Given the description of an element on the screen output the (x, y) to click on. 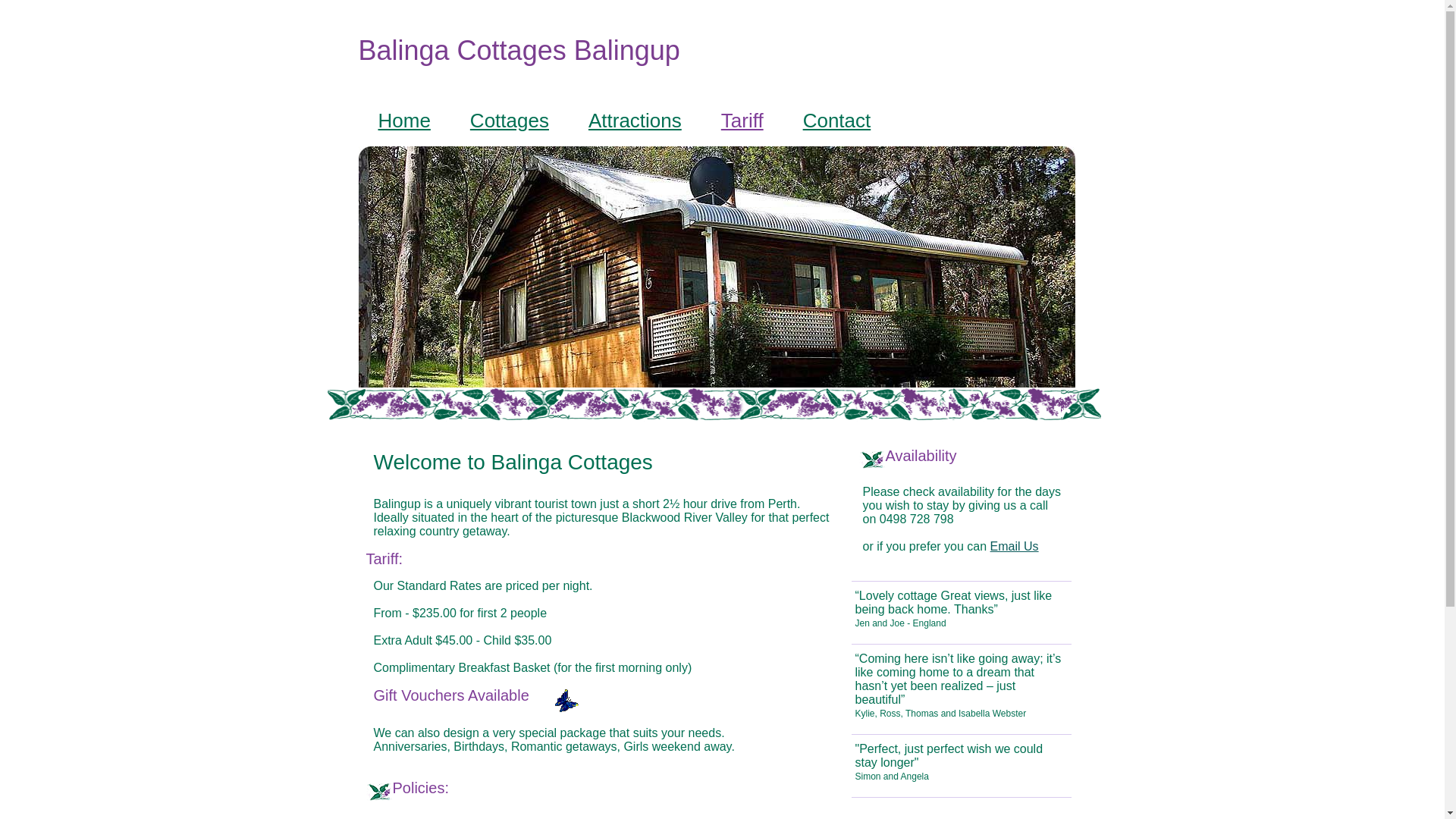
Attractions (635, 122)
Tariff (742, 122)
Home (403, 122)
Contact (837, 122)
Email Us (1014, 545)
Cottages (509, 122)
